Given the description of an element on the screen output the (x, y) to click on. 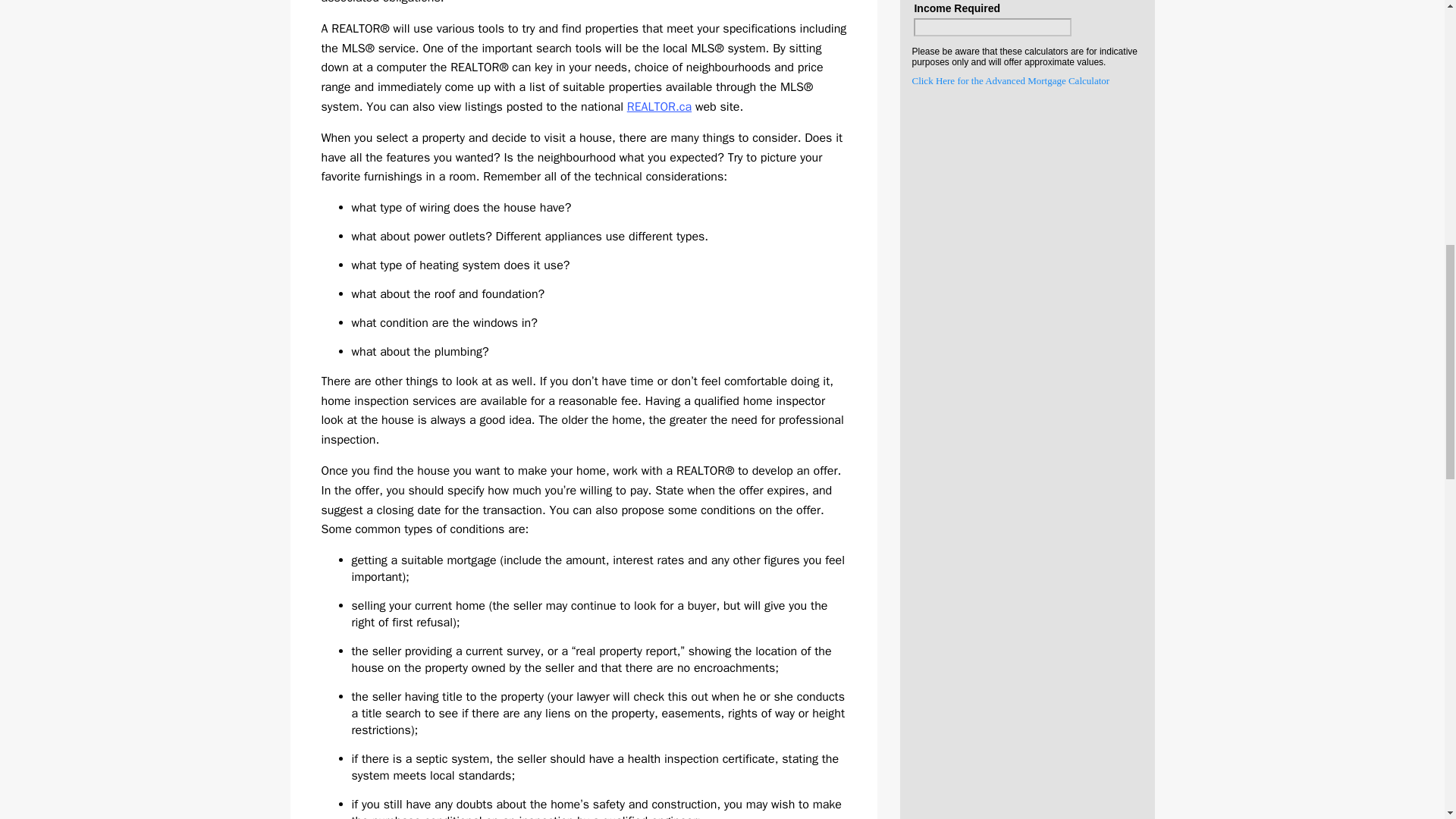
Click Here for the Advanced Mortgage Calculator (1010, 80)
REALTOR.ca (659, 106)
